Given the description of an element on the screen output the (x, y) to click on. 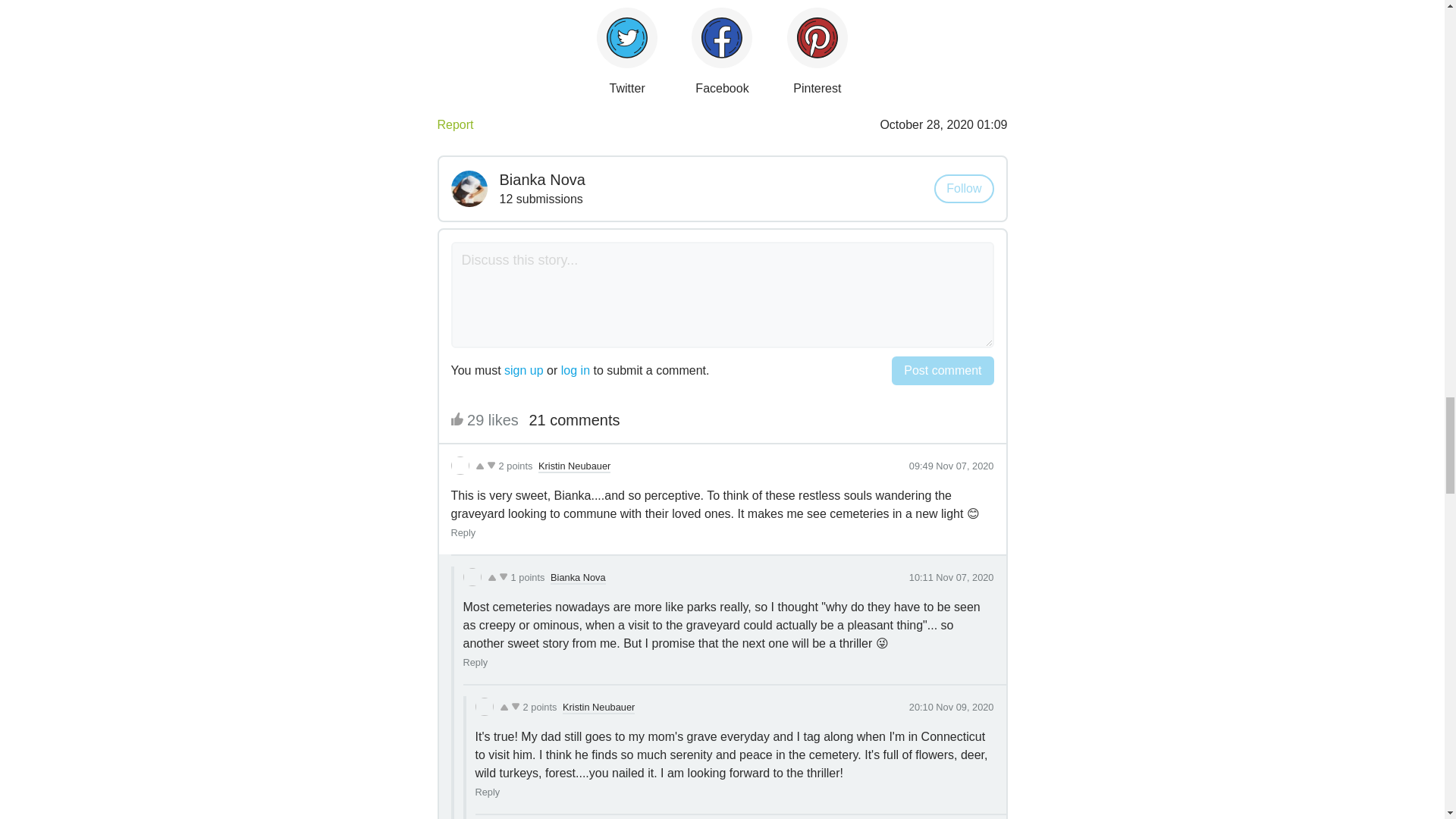
Post comment (941, 370)
